Given the description of an element on the screen output the (x, y) to click on. 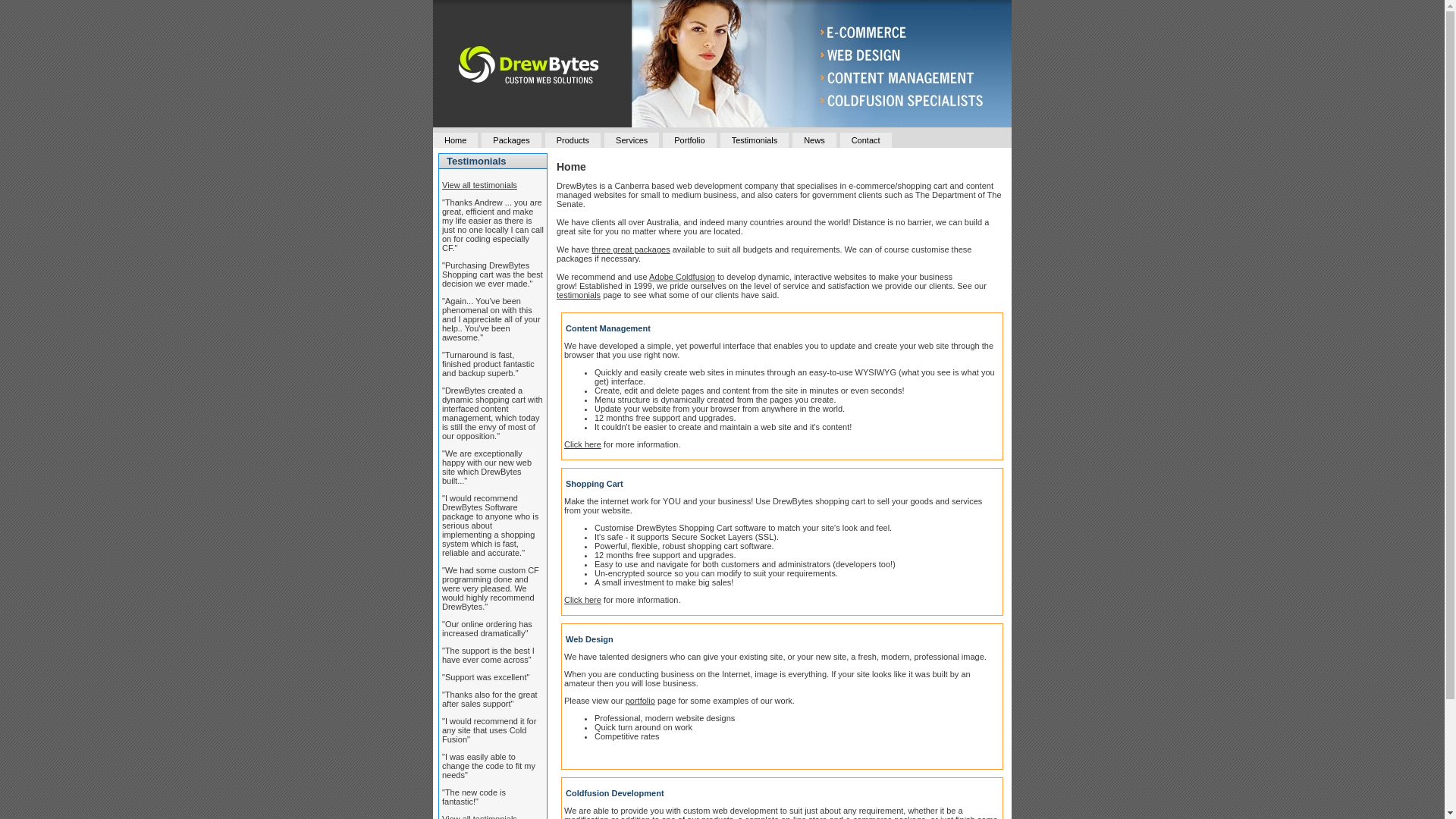
testimonials Element type: text (578, 294)
Click here Element type: text (582, 443)
three great packages Element type: text (630, 249)
Packages Element type: text (510, 139)
News Element type: text (814, 139)
Portfolio Element type: text (688, 139)
Home Element type: text (455, 139)
View all testimonials Element type: text (479, 184)
Services Element type: text (631, 139)
portfolio Element type: text (640, 700)
Testimonials Element type: text (754, 139)
Products Element type: text (572, 139)
Contact Element type: text (865, 139)
Click here Element type: text (582, 599)
Adobe Coldfusion Element type: text (682, 276)
